Given the description of an element on the screen output the (x, y) to click on. 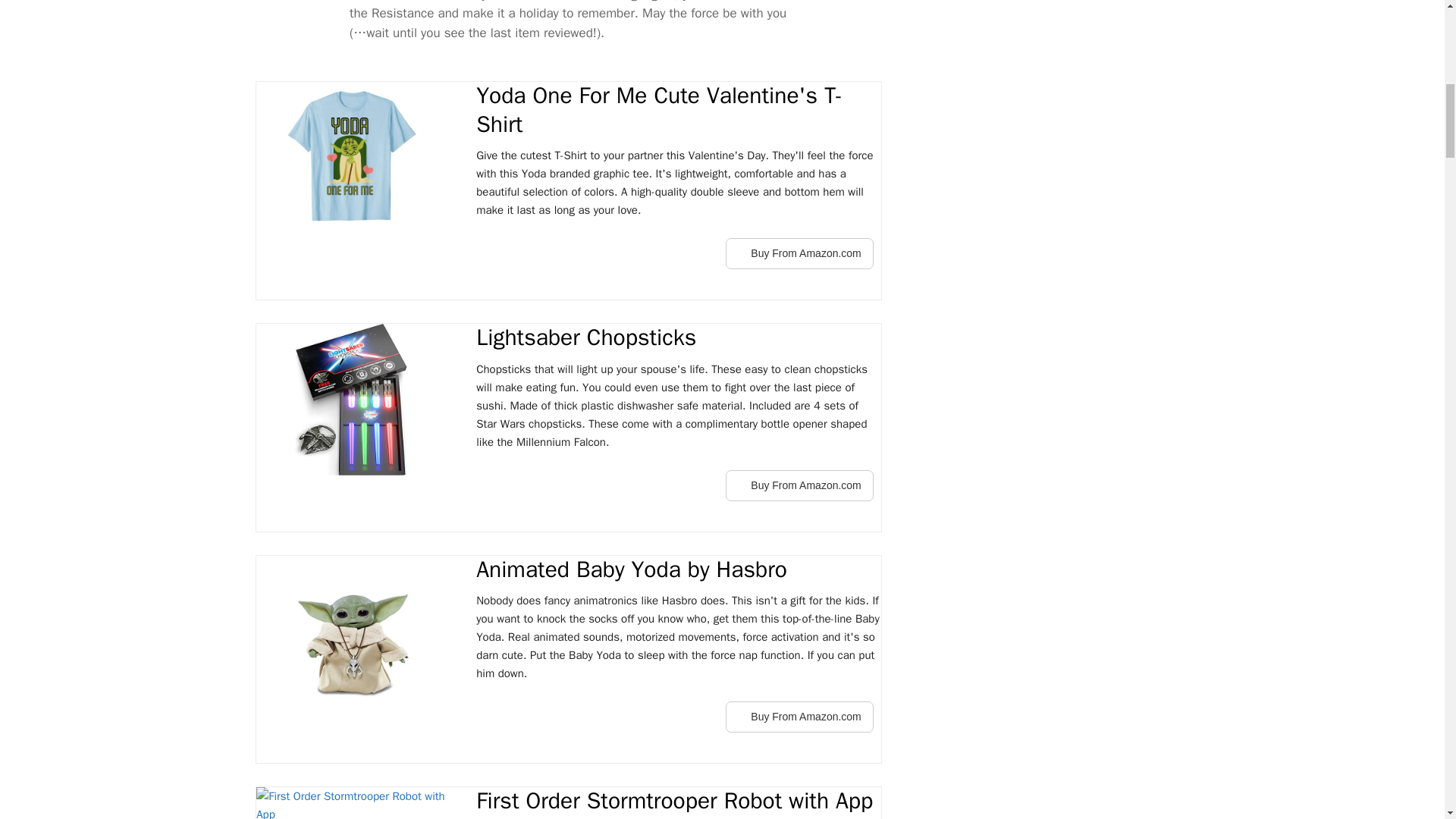
Animated Baby Yoda by Hasbro (678, 570)
First Order Stormtrooper Robot with App (678, 801)
Buy From Amazon.com (799, 253)
Buy From Amazon.com (799, 485)
Animated Baby Yoda by Hasbro (350, 631)
First Order Stormtrooper Robot with App (678, 801)
First Order Stormtrooper Robot with App (350, 803)
Lightsaber Chopsticks (678, 337)
Lightsaber Chopsticks (678, 337)
Buy From Amazon.com (799, 485)
